Given the description of an element on the screen output the (x, y) to click on. 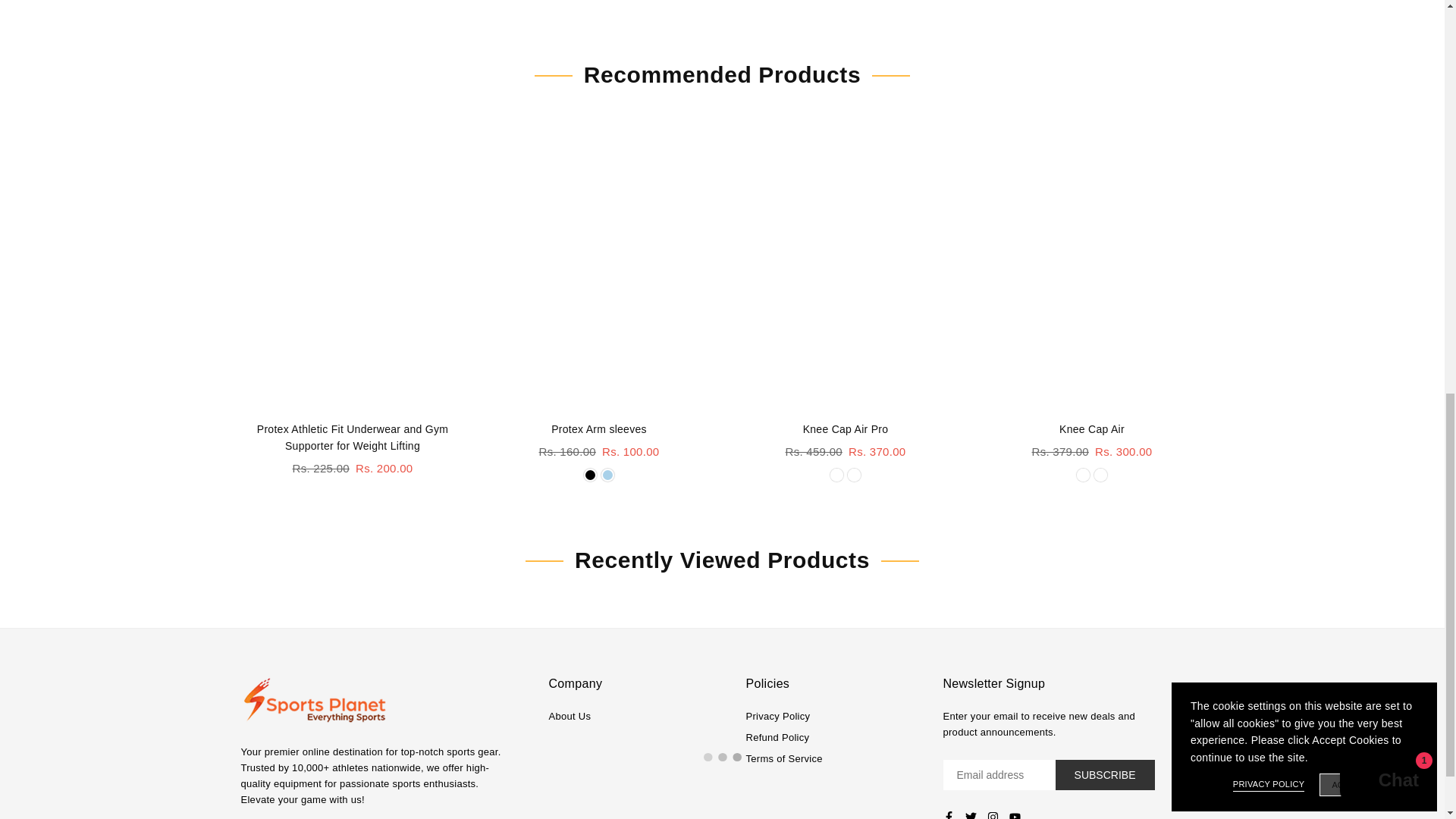
Black (589, 474)
SUBSCRIBE (1104, 775)
Blue (607, 474)
